Given the description of an element on the screen output the (x, y) to click on. 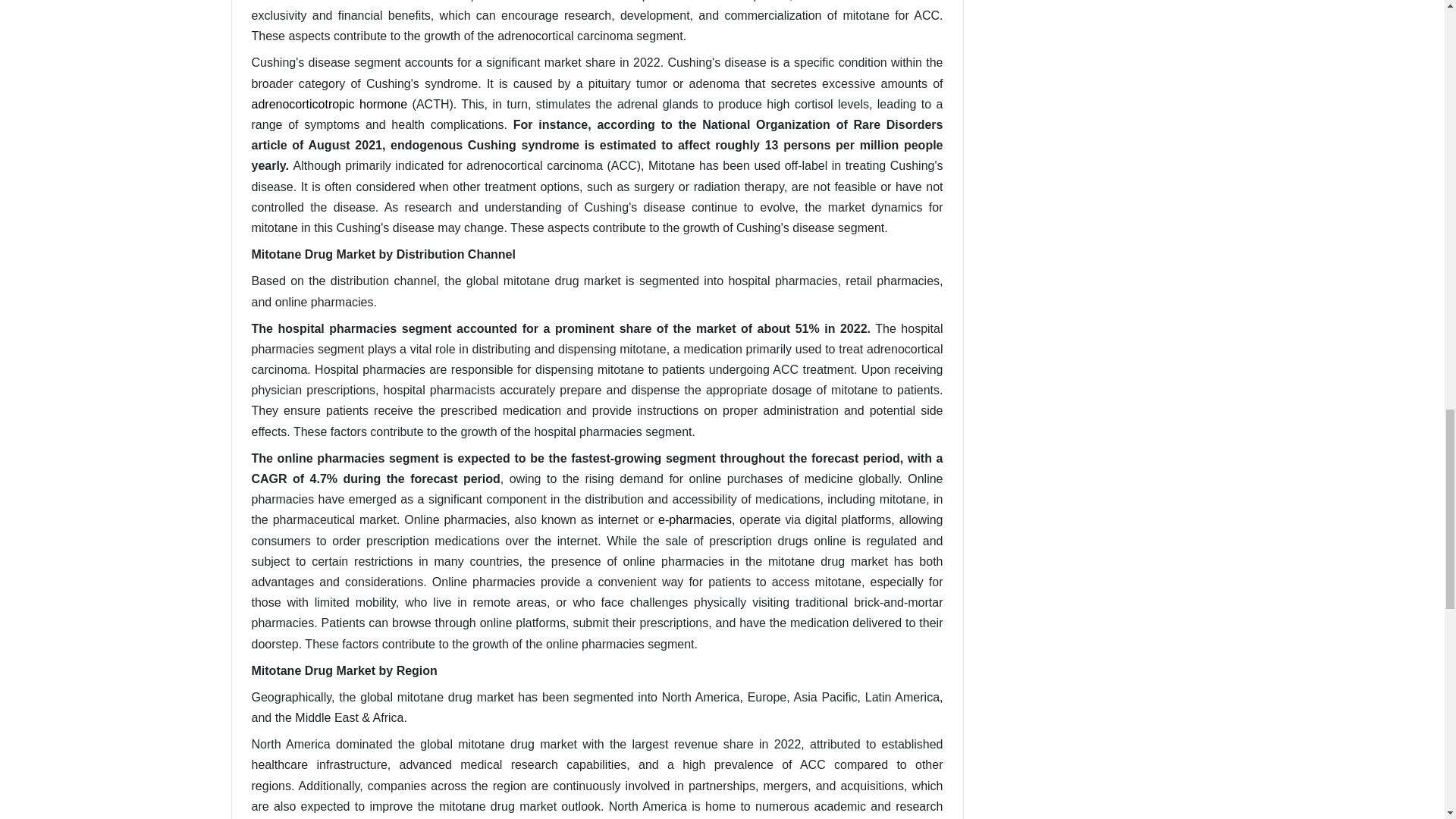
e-pharmacies (695, 519)
adrenocorticotropic hormone (329, 103)
